Given the description of an element on the screen output the (x, y) to click on. 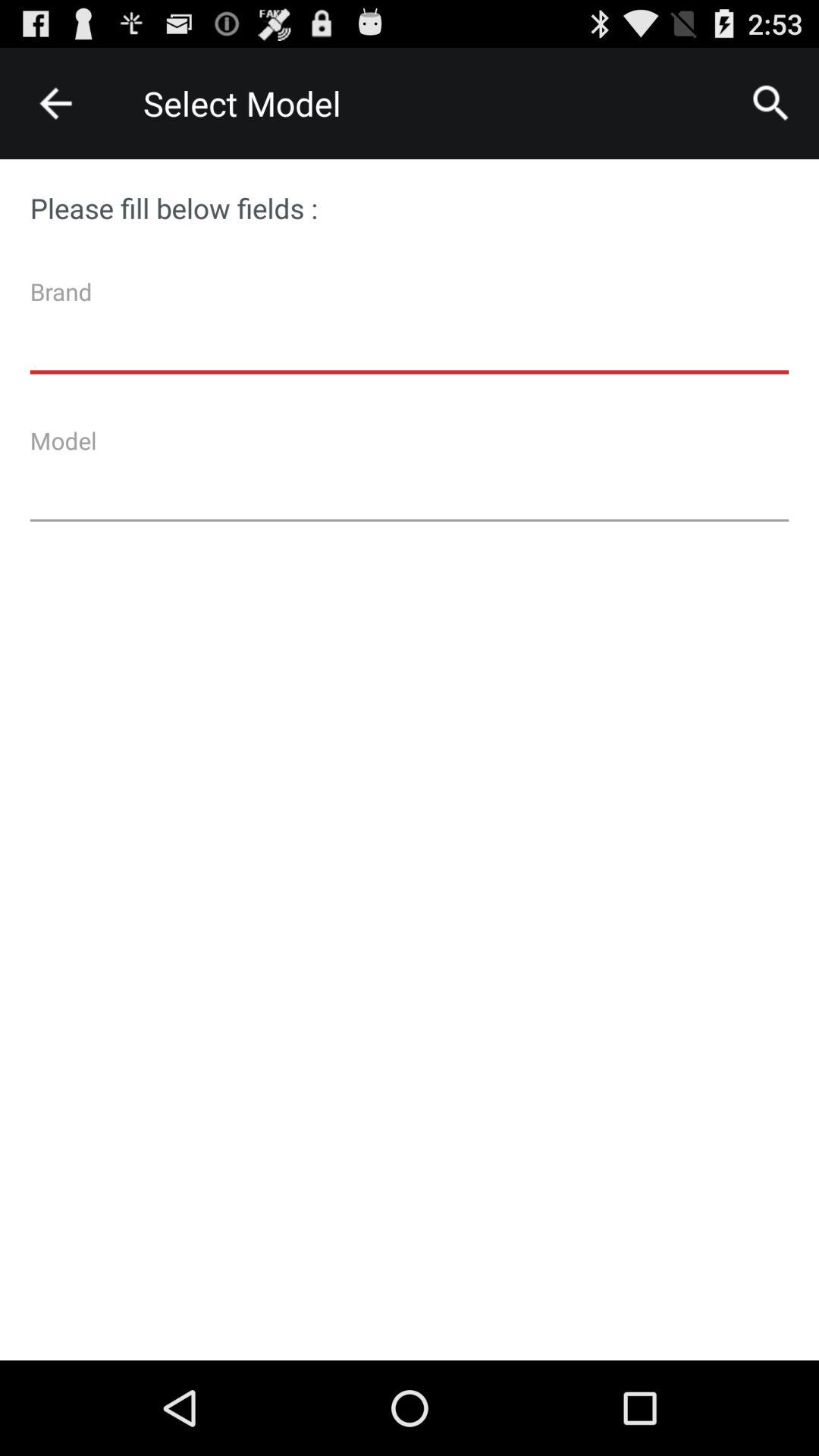
launch icon next to the select model icon (771, 103)
